Given the description of an element on the screen output the (x, y) to click on. 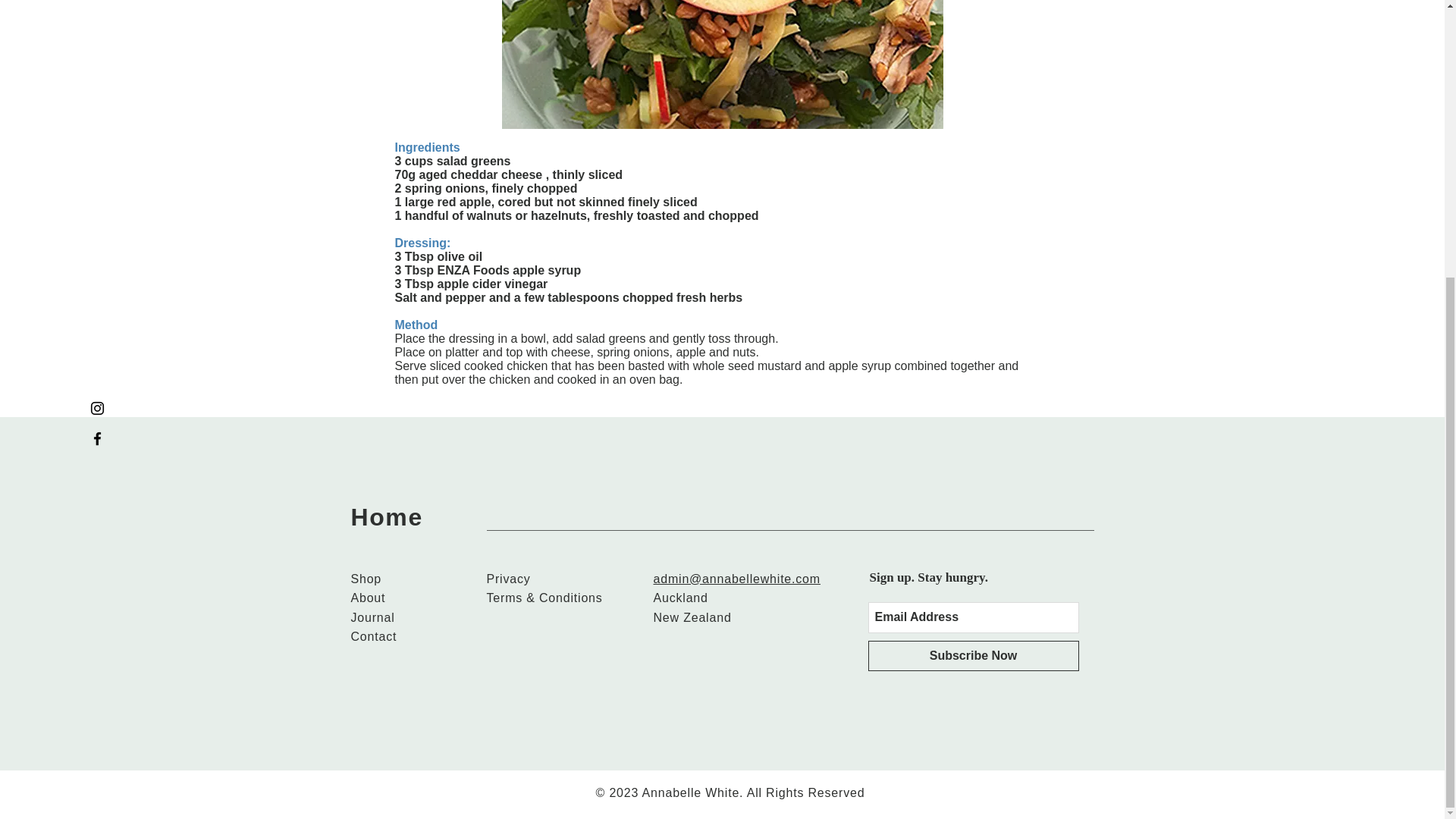
Privacy (508, 578)
Home (386, 516)
Contact (373, 635)
Shop (365, 578)
Subscribe Now (972, 655)
Journal (372, 617)
About (367, 597)
